Given the description of an element on the screen output the (x, y) to click on. 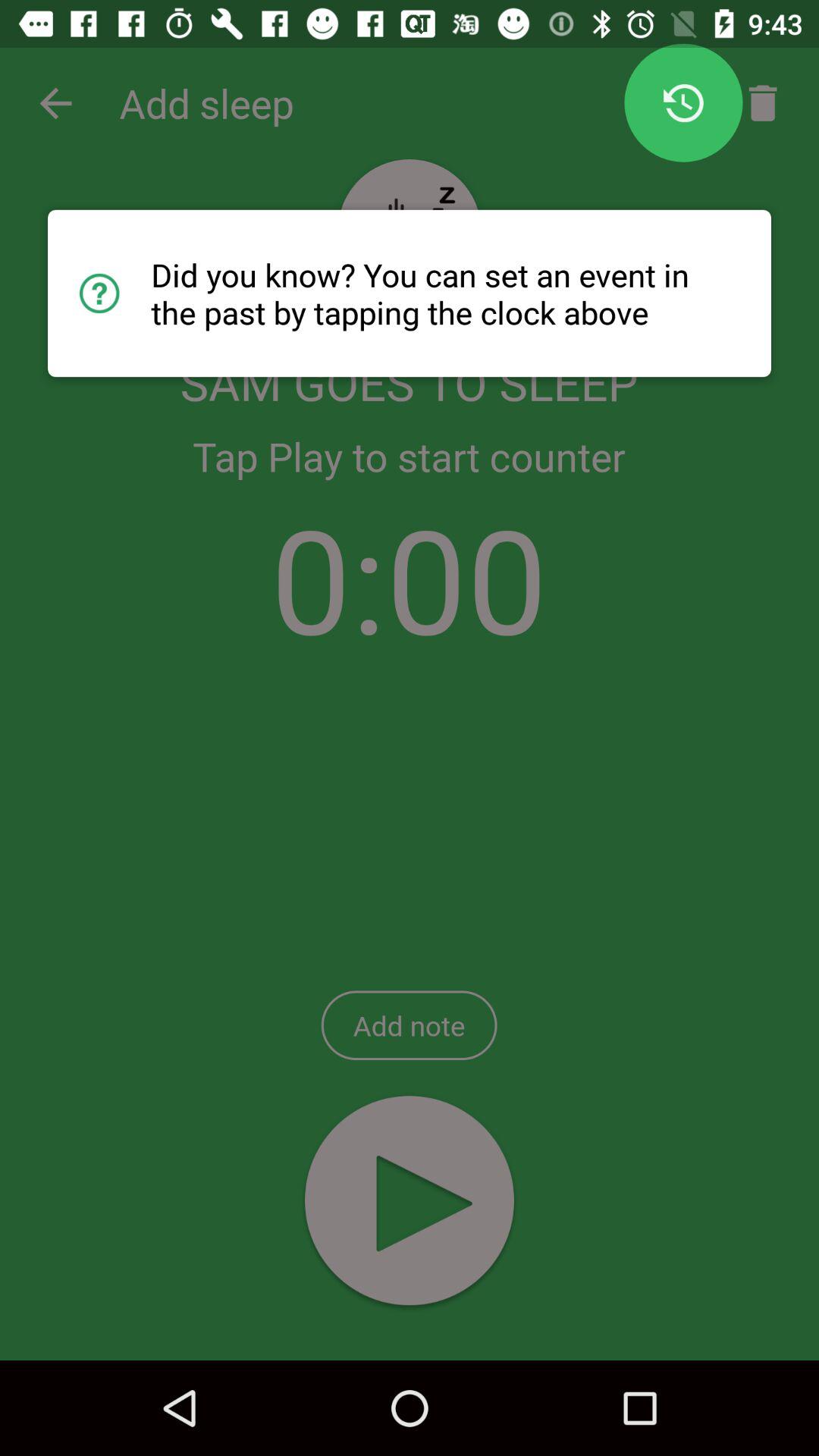
tap item next to the add sleep (55, 103)
